Given the description of an element on the screen output the (x, y) to click on. 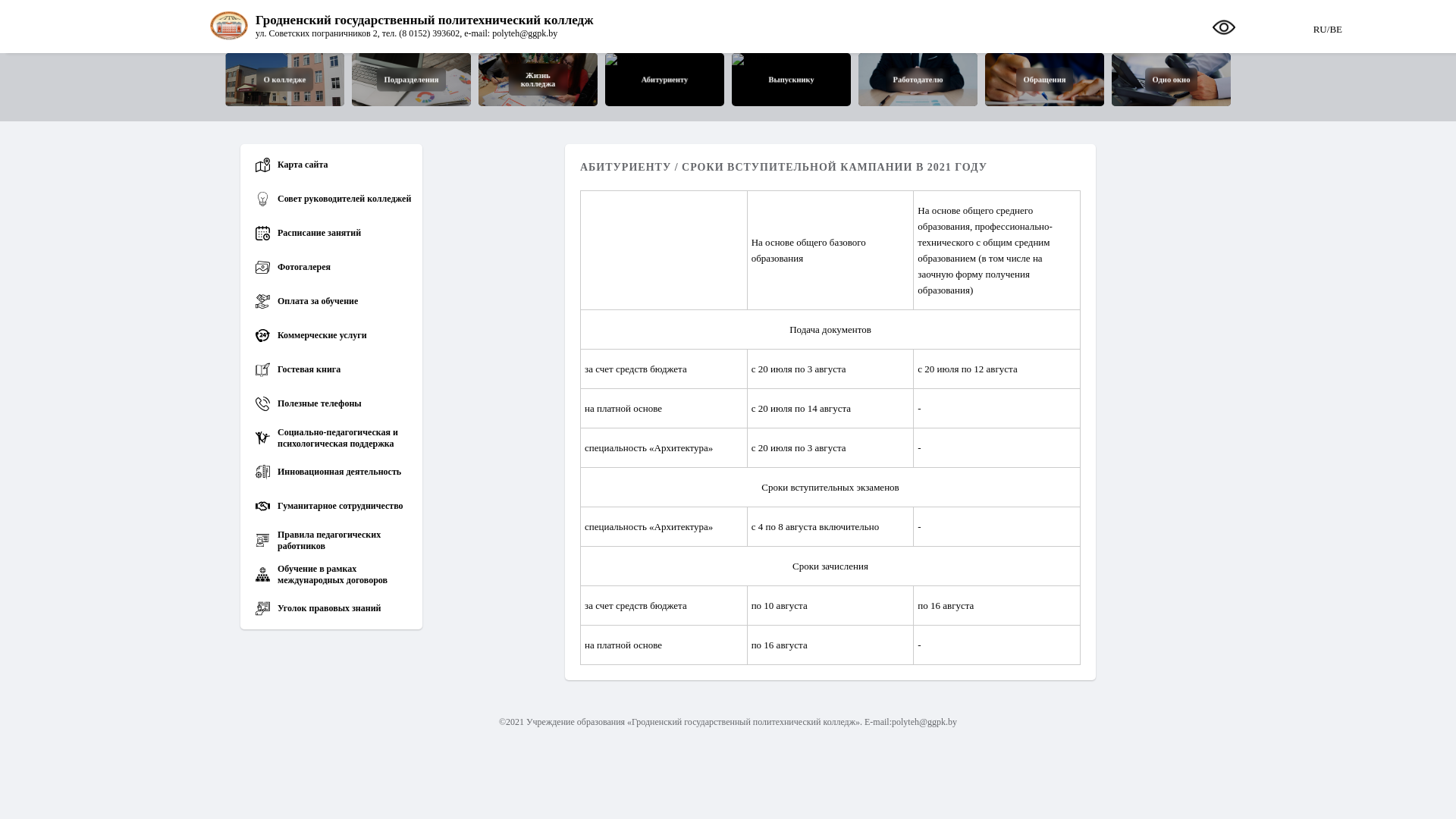
RU Element type: text (1320, 25)
BE Element type: text (1335, 25)
